Given the description of an element on the screen output the (x, y) to click on. 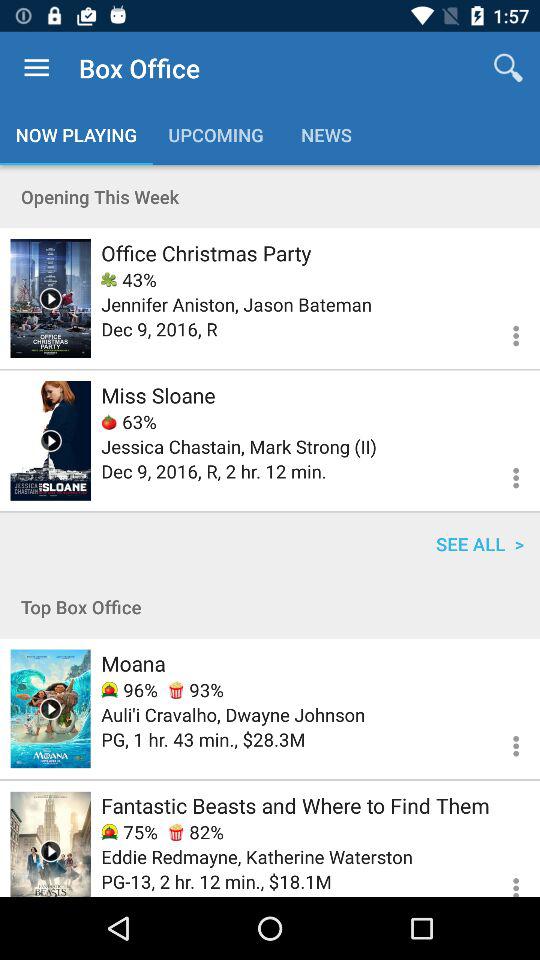
jump to 63% item (128, 421)
